Given the description of an element on the screen output the (x, y) to click on. 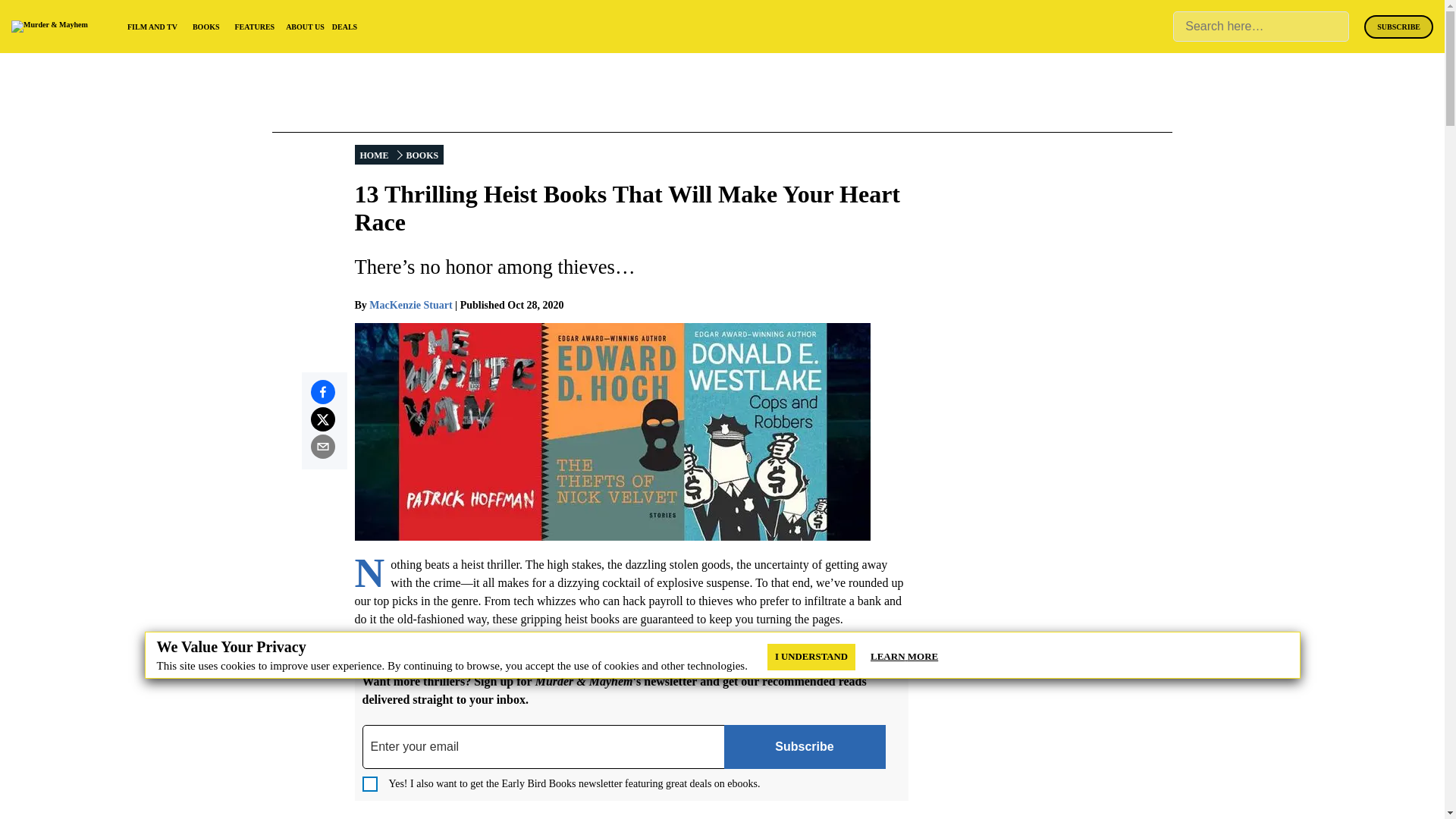
ABOUT US (304, 26)
BOOKS (422, 154)
MacKenzie Stuart (410, 305)
BOOKS (205, 26)
DEALS (343, 26)
HOME (374, 154)
Subscribe (804, 746)
SUBSCRIBE (1399, 26)
LEARN MORE (903, 656)
FEATURES (254, 26)
FILM AND TV (152, 26)
